Given the description of an element on the screen output the (x, y) to click on. 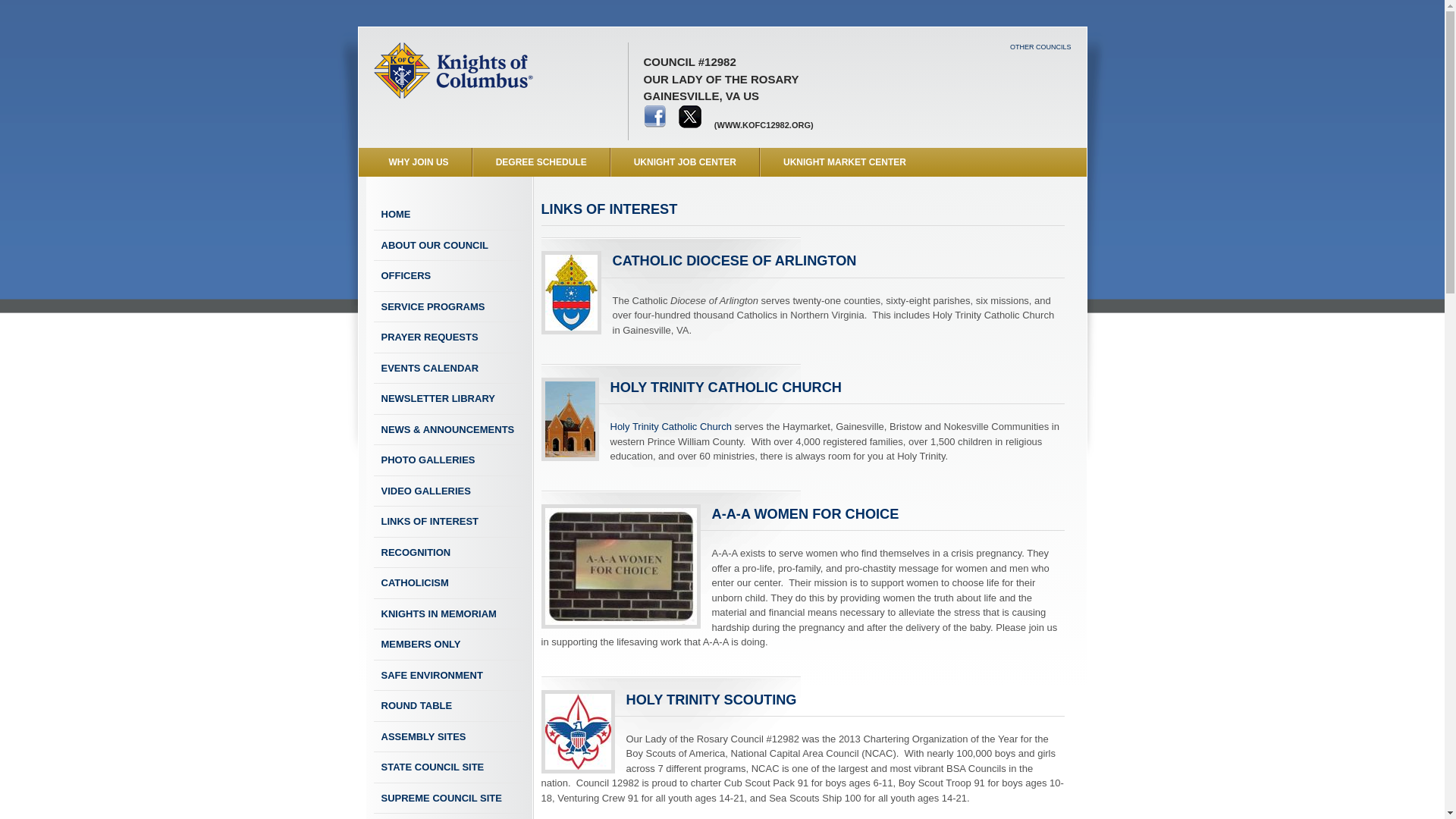
ROUND TABLE (448, 706)
UKNIGHT MARKET CENTER (844, 162)
KNIGHTS IN MEMORIAM (448, 613)
PRAYER REQUESTS (448, 337)
A-A-A WOMEN FOR CHOICE (802, 517)
SERVICE PROGRAMS (448, 306)
STATE COUNCIL SITE (448, 767)
CATHOLICISM (448, 583)
SAFE ENVIRONMENT (448, 675)
MEMBERS ONLY (448, 644)
